Given the description of an element on the screen output the (x, y) to click on. 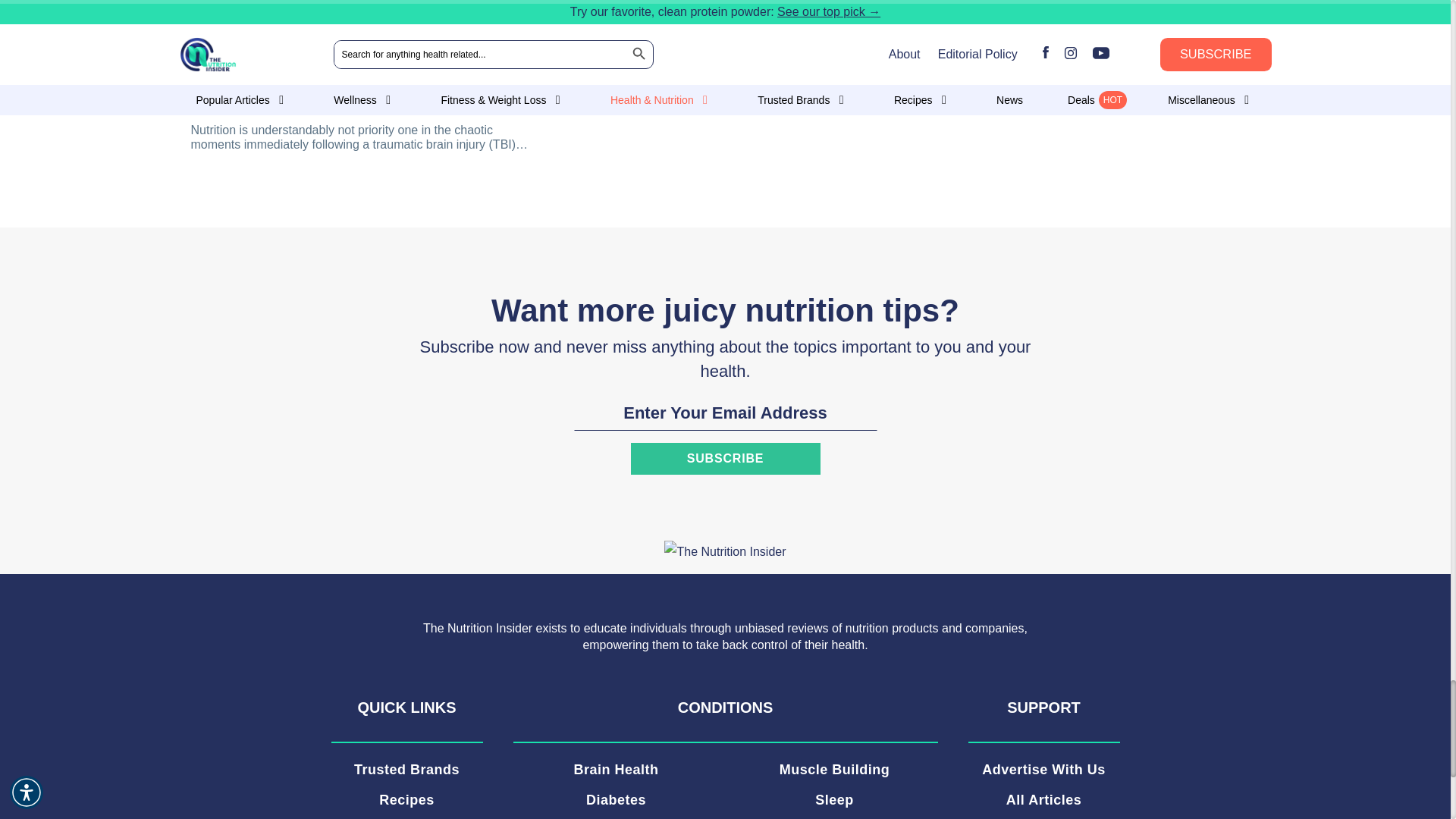
Subscribe (725, 459)
